Given the description of an element on the screen output the (x, y) to click on. 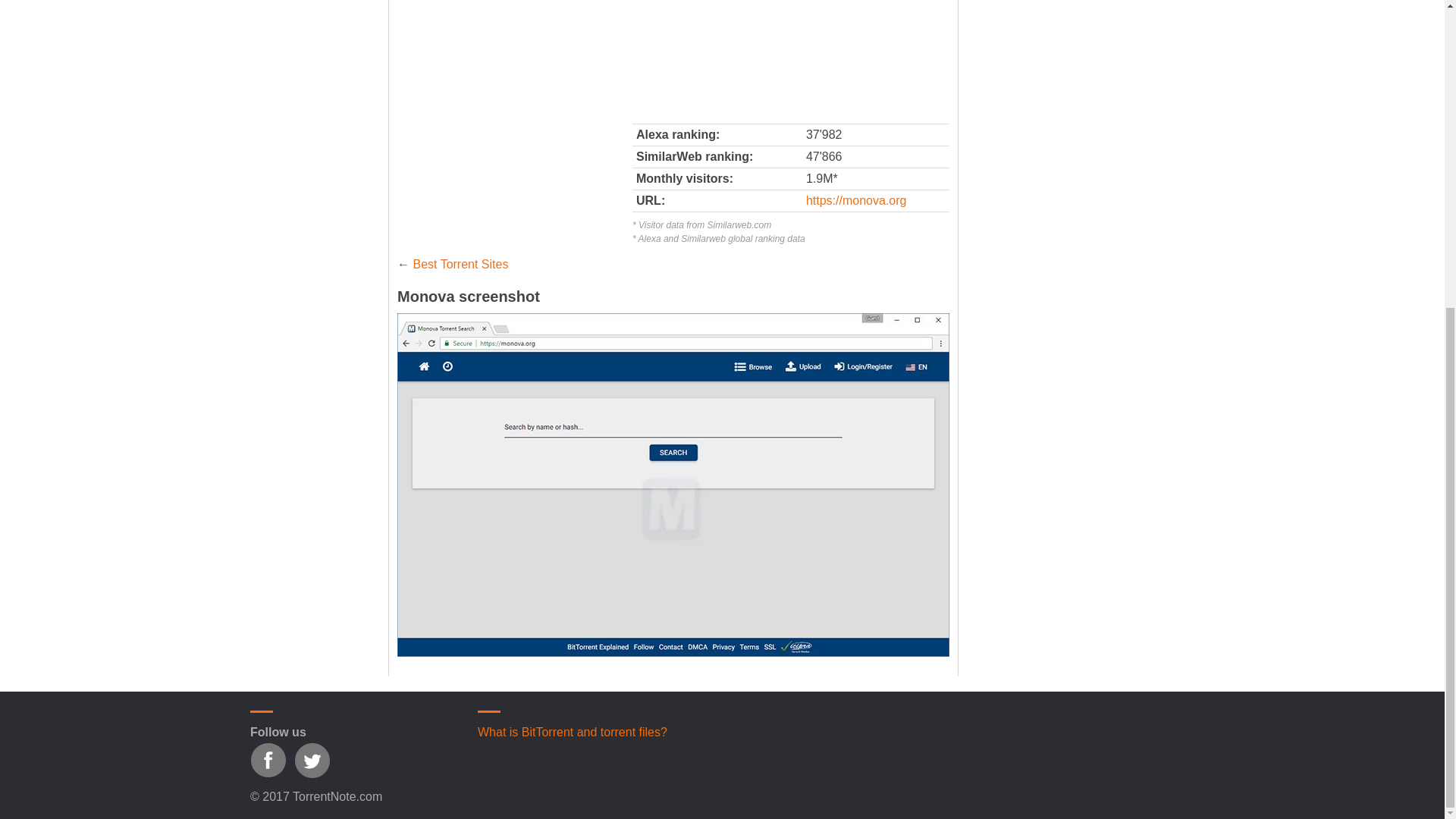
What is BitTorrent and torrent files? (571, 731)
Twitter (312, 760)
Facebook (268, 760)
Best Torrent Sites (460, 264)
